Given the description of an element on the screen output the (x, y) to click on. 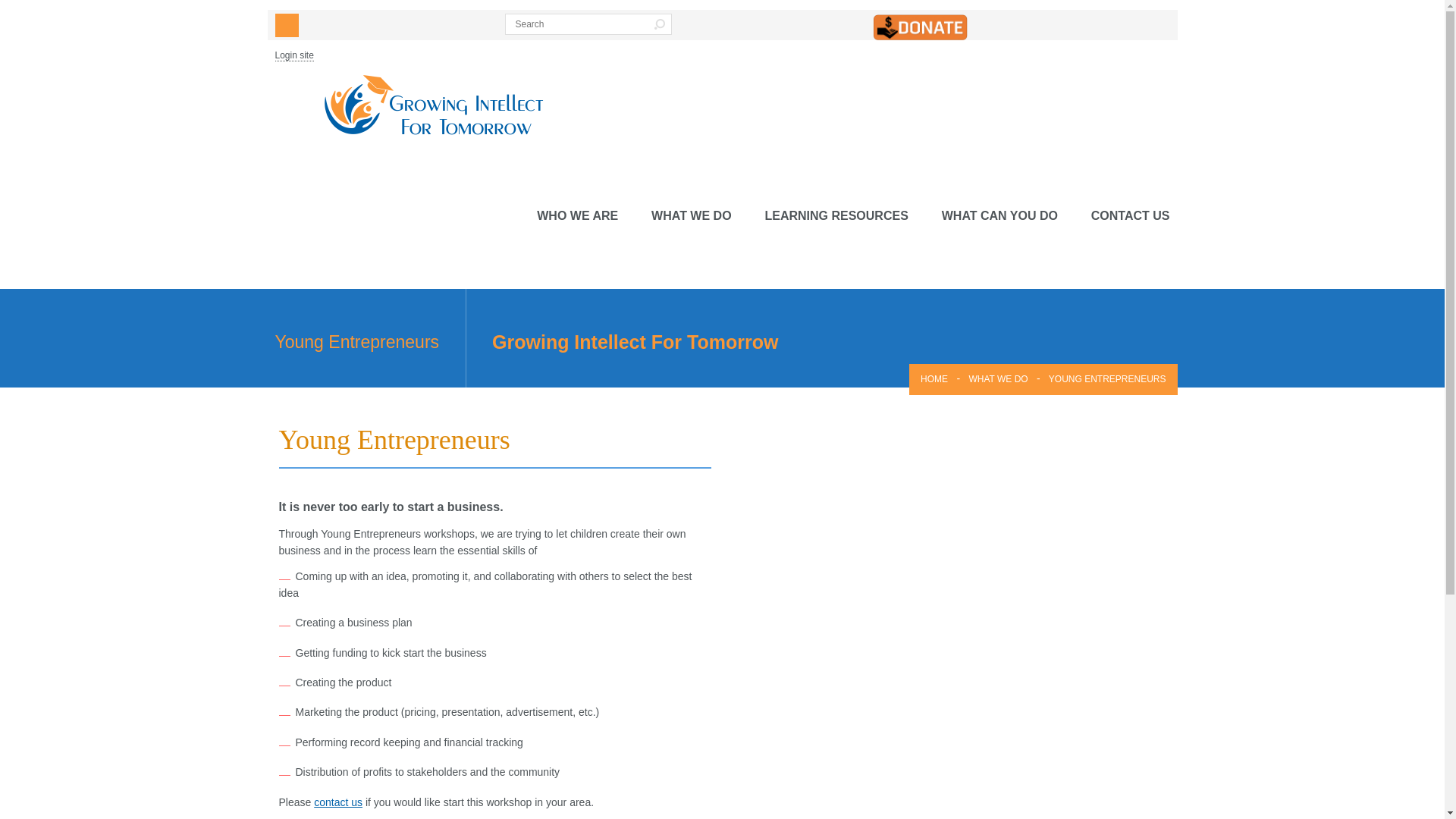
HOME (933, 378)
WHAT WE DO (997, 378)
WHAT CAN YOU DO (1000, 215)
WHAT WE DO (690, 215)
contact us (338, 802)
WHO WE ARE (577, 215)
Login site (294, 55)
LEARNING RESOURCES (835, 215)
CONTACT US (1130, 215)
